Given the description of an element on the screen output the (x, y) to click on. 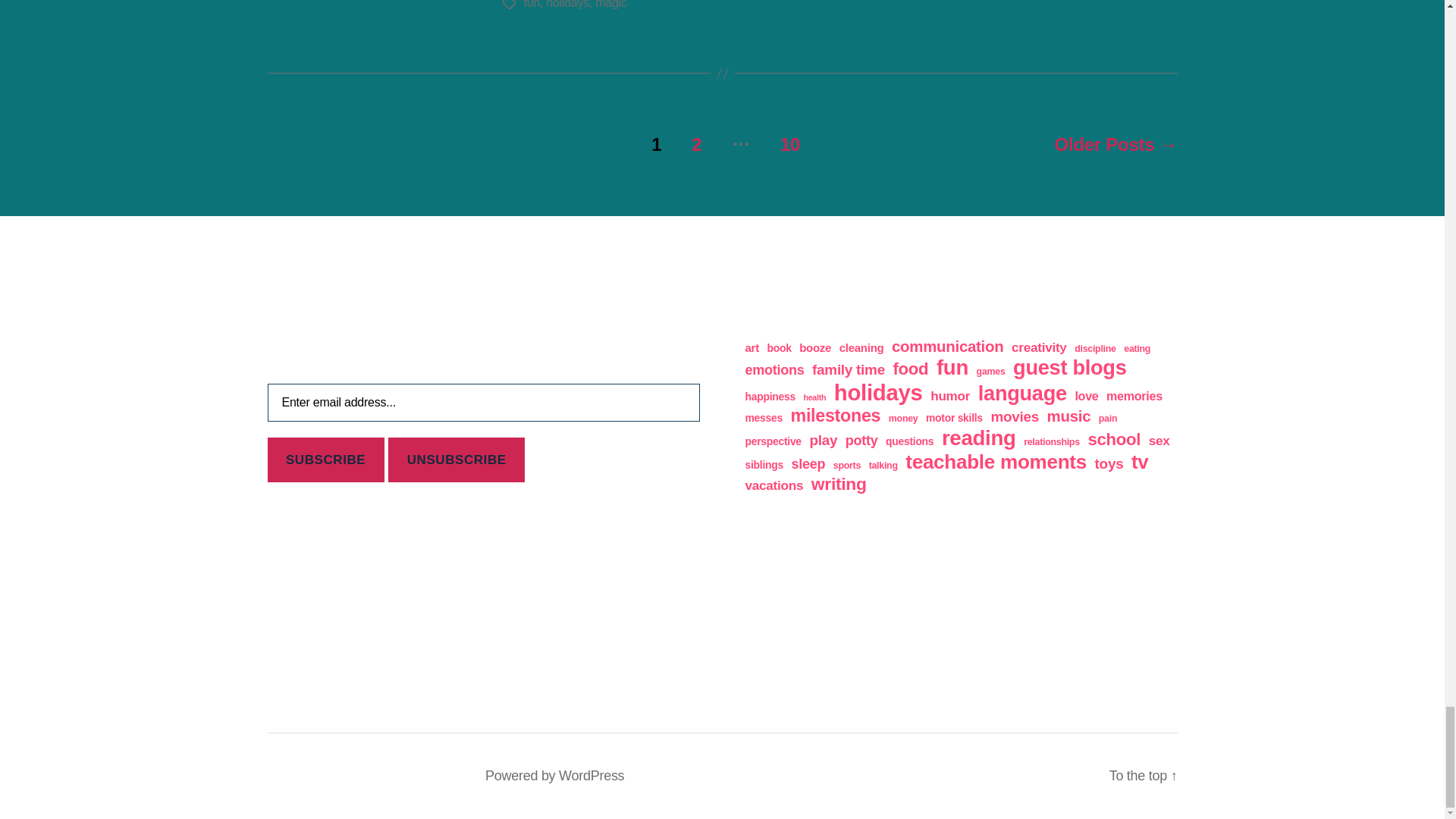
Subscribe (325, 459)
Enter email address... (482, 402)
Unsubscribe (456, 459)
